Given the description of an element on the screen output the (x, y) to click on. 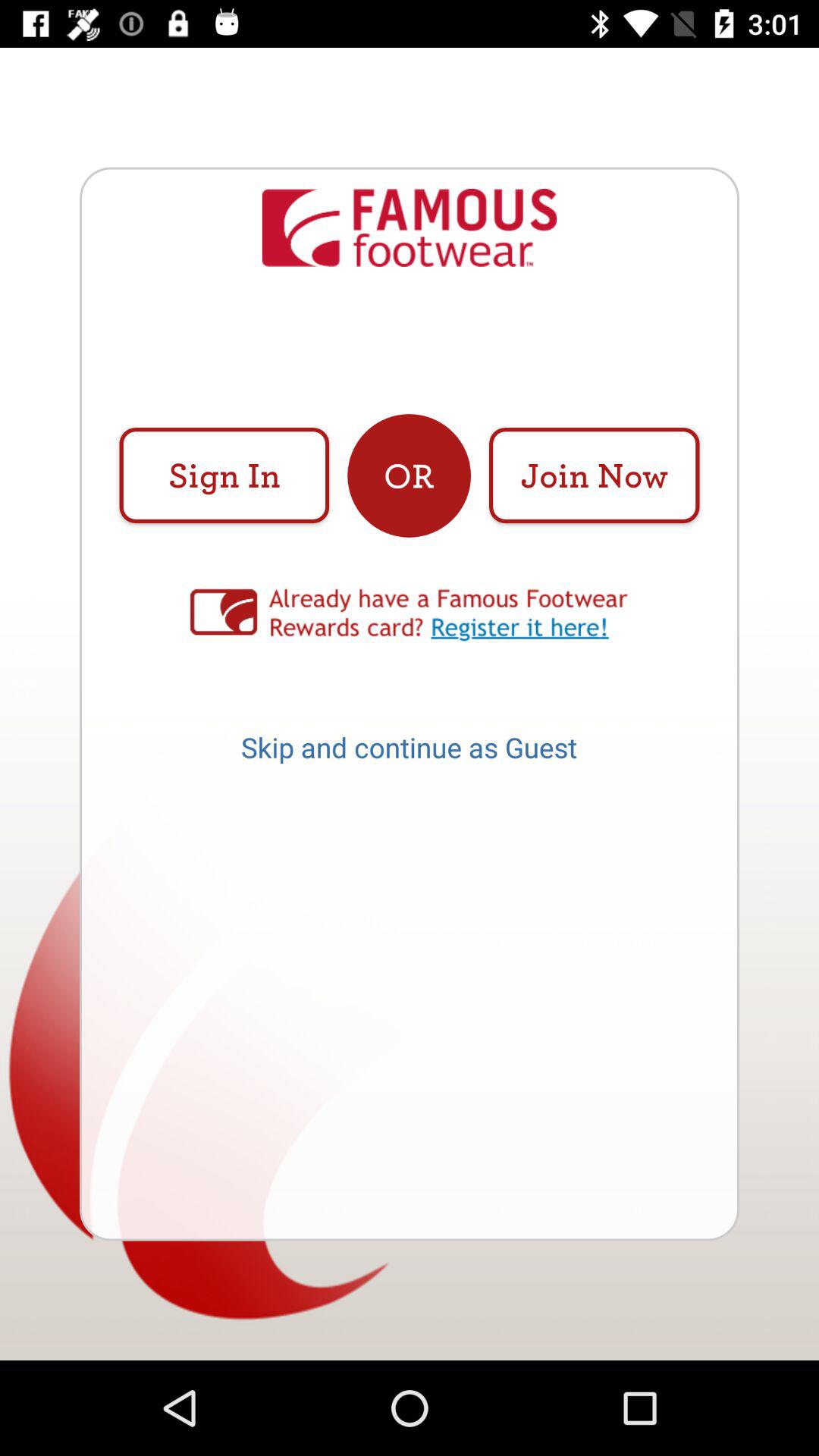
click the item below the sign in item (409, 614)
